Given the description of an element on the screen output the (x, y) to click on. 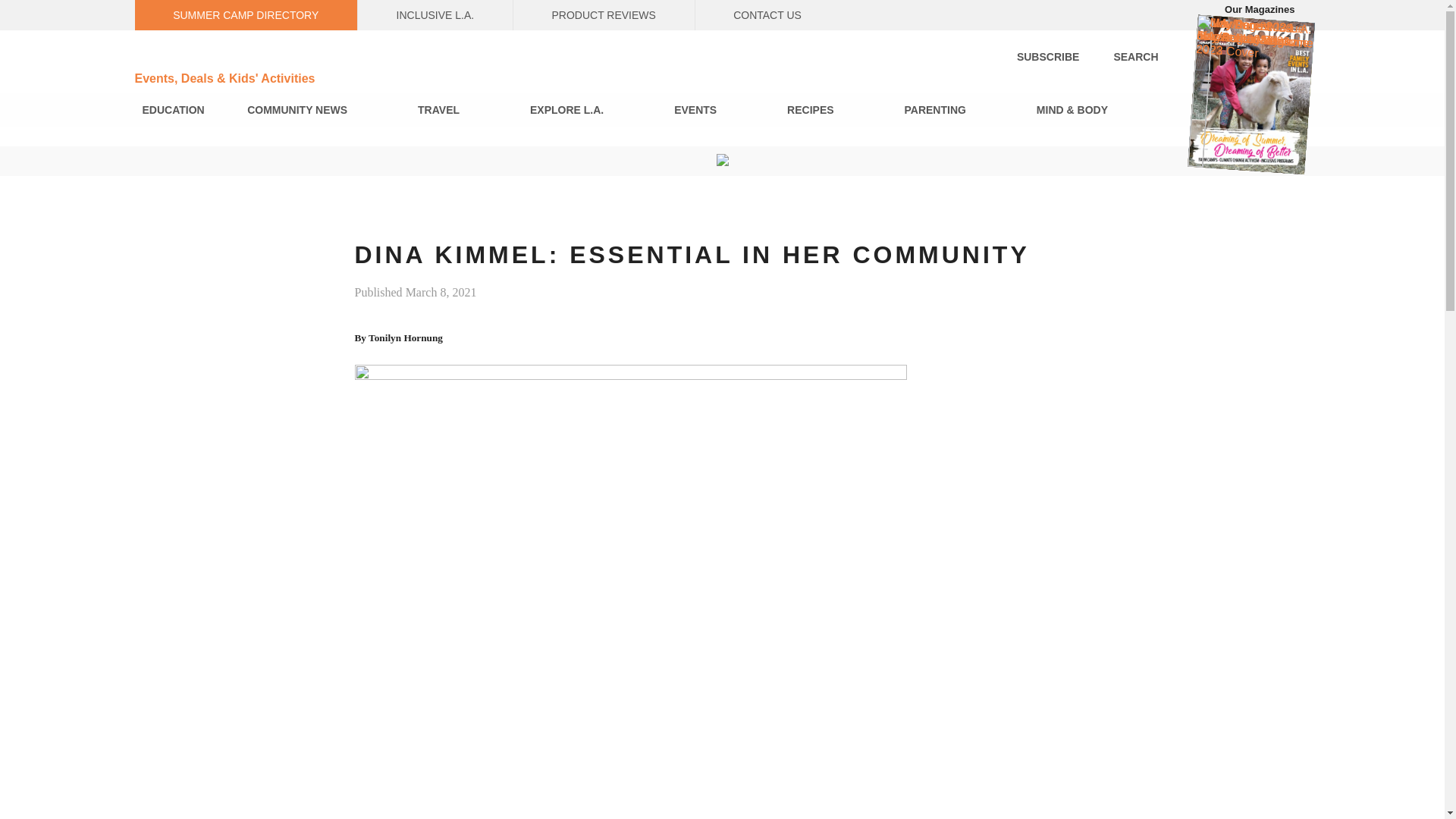
Twitter (1070, 15)
CONTACT US (767, 15)
Instagram (983, 15)
Facebook (1028, 15)
PRODUCT REVIEWS (603, 15)
INCLUSIVE L.A. (435, 15)
YouTube (1156, 15)
SUBSCRIBE (1047, 56)
L.A. Parent (237, 54)
Pinterest (1114, 15)
SUMMER CAMP DIRECTORY (245, 15)
